Given the description of an element on the screen output the (x, y) to click on. 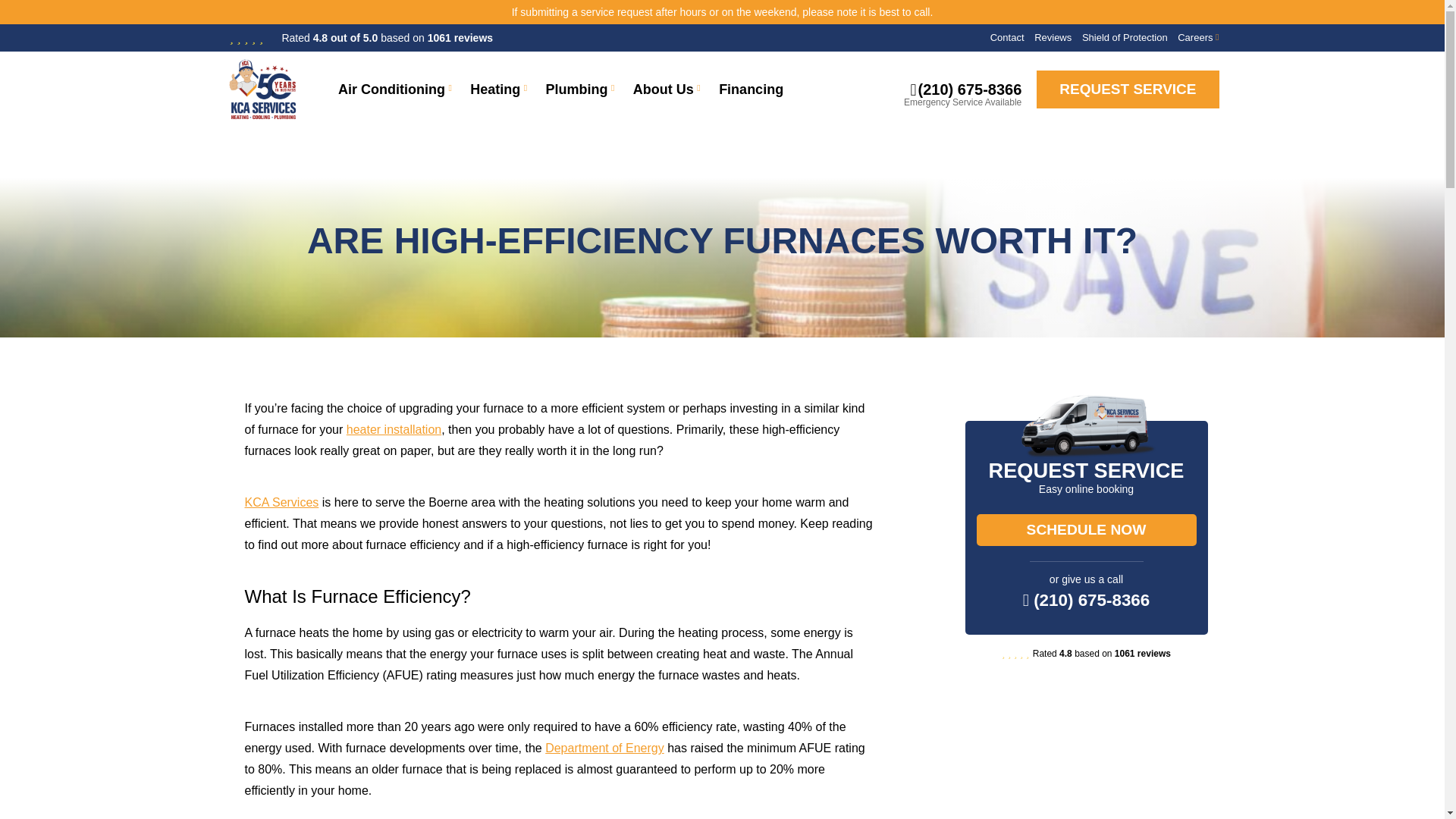
Reviews (1052, 37)
Plumbing (577, 89)
About Us (663, 89)
Air Conditioning (391, 89)
Shield of Protection (1124, 37)
Careers (1194, 37)
Contact (1007, 37)
